Given the description of an element on the screen output the (x, y) to click on. 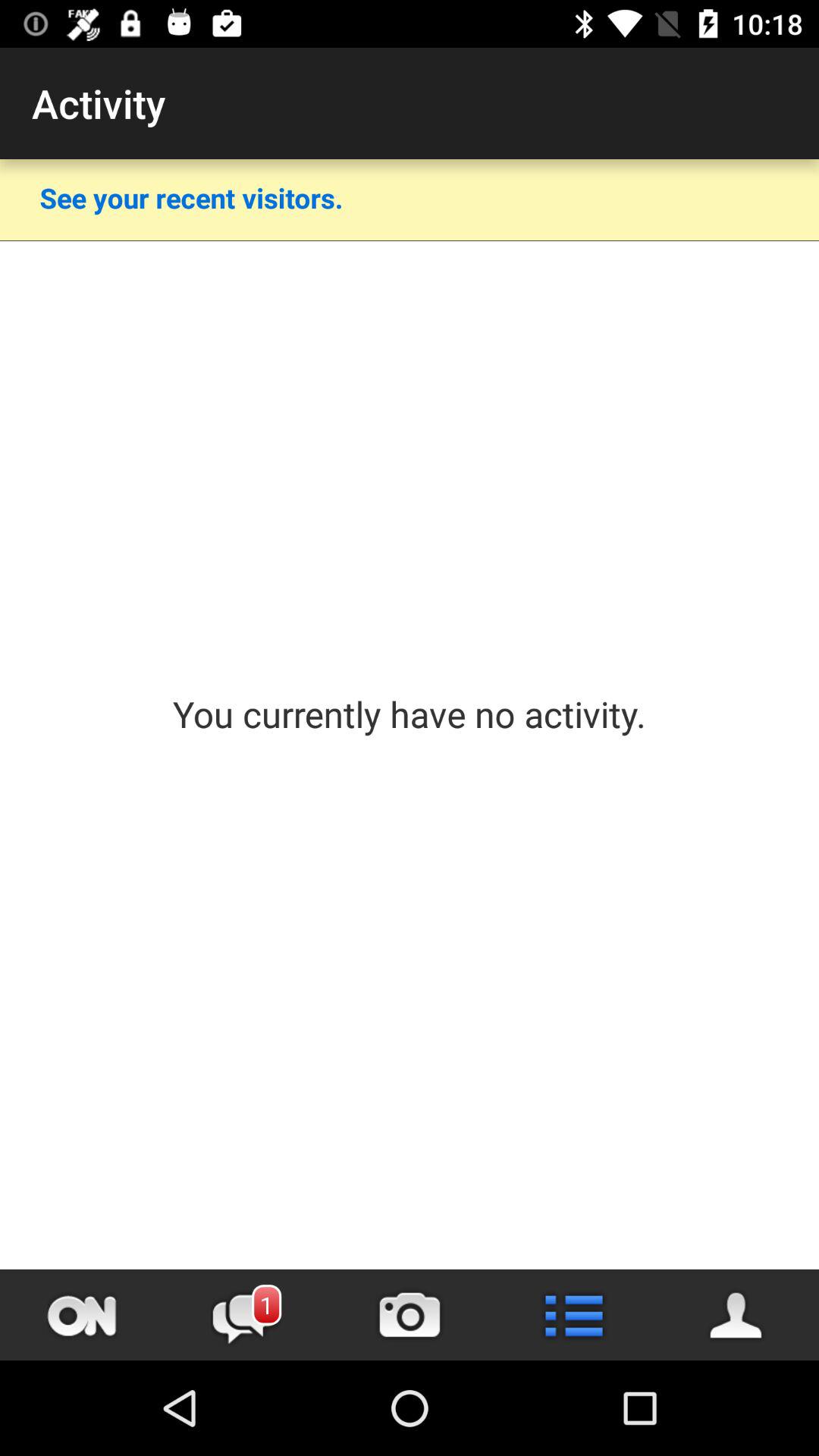
open camera (409, 1315)
